Given the description of an element on the screen output the (x, y) to click on. 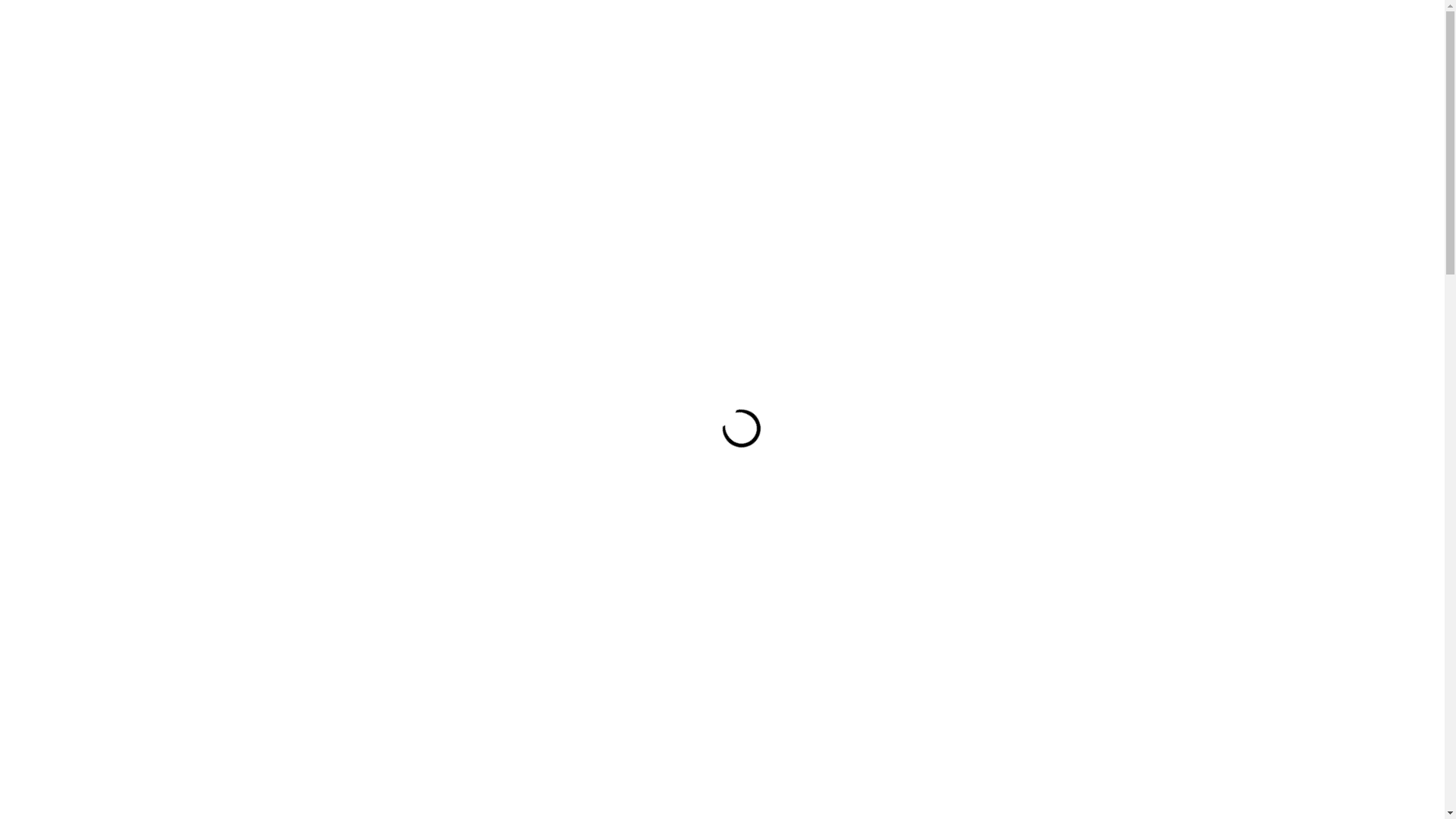
contact Element type: text (607, 53)
window Element type: text (670, 111)
showroommodellen Element type: text (496, 53)
art Element type: text (725, 111)
projects Element type: text (399, 111)
Lees meer Element type: text (1290, 702)
styling Element type: text (467, 111)
home Element type: text (392, 53)
outdoor Element type: text (598, 111)
home Element type: text (304, 355)
Ok Element type: text (1231, 735)
outdoor Element type: text (350, 355)
indoor Element type: text (531, 111)
info@casa-verde.be Element type: text (728, 52)
Casa Verde Element type: hover (1082, 50)
